Given the description of an element on the screen output the (x, y) to click on. 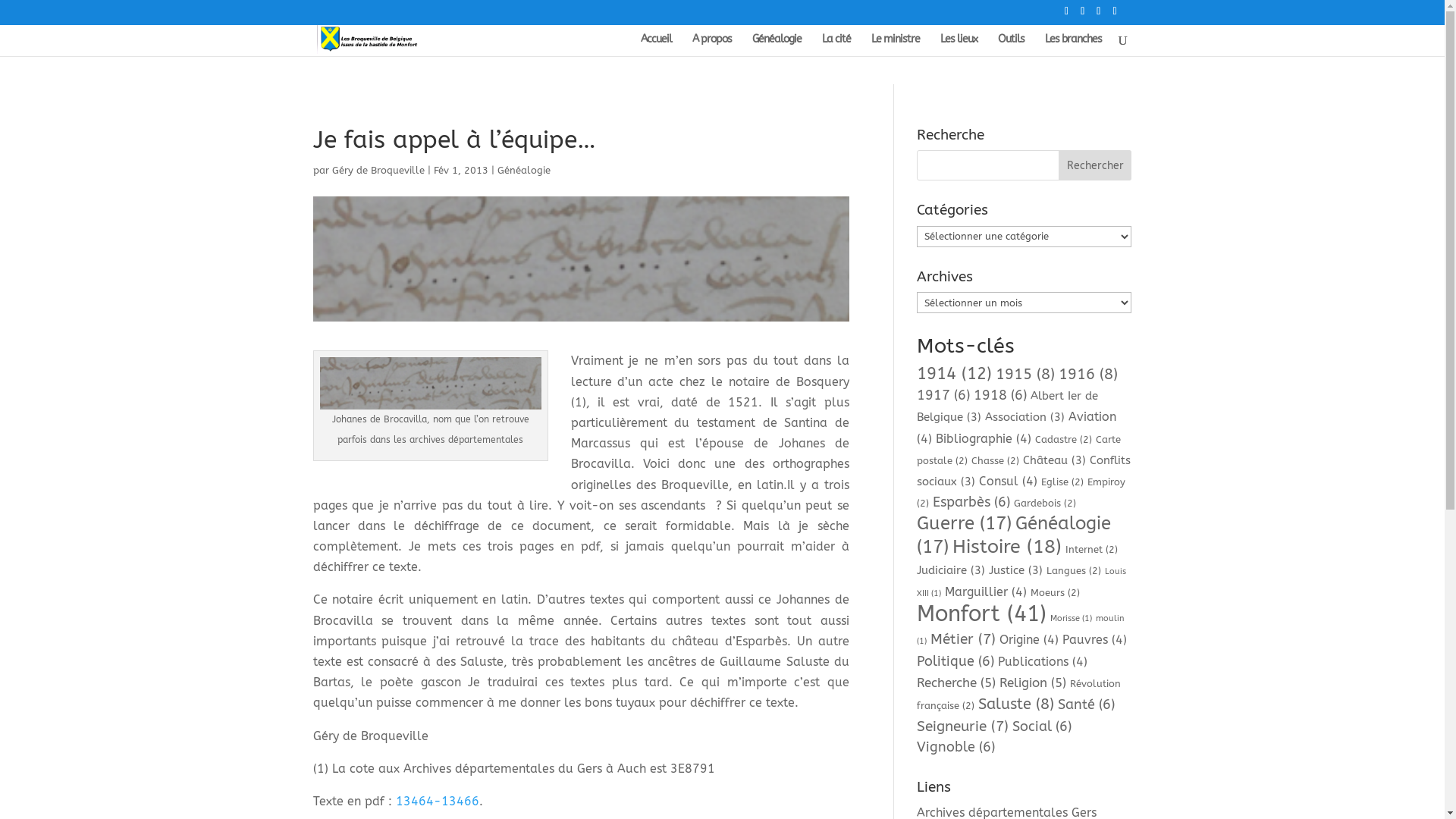
Aviation (4) Element type: text (1016, 427)
Consul (4) Element type: text (1008, 480)
Morisse (1) Element type: text (1071, 618)
1915 (8) Element type: text (1024, 373)
Langues (2) Element type: text (1073, 570)
1916 (8) Element type: text (1087, 373)
Guerre (17) Element type: text (963, 522)
Vignoble (6) Element type: text (955, 746)
Judiciaire (3) Element type: text (950, 570)
Accueil Element type: text (655, 45)
Louis XIII (1) Element type: text (1021, 582)
Politique (6) Element type: text (955, 660)
Religion (5) Element type: text (1032, 682)
A propos Element type: text (711, 45)
Association (3) Element type: text (1024, 416)
Histoire (18) Element type: text (1006, 546)
Conflits sociaux (3) Element type: text (1023, 470)
Empiroy (2) Element type: text (1020, 492)
Marguillier (4) Element type: text (985, 591)
Le ministre Element type: text (894, 45)
Seigneurie (7) Element type: text (962, 725)
Origine (4) Element type: text (1028, 639)
Bibliographie (4) Element type: text (983, 438)
Albert Ier de Belgique (3) Element type: text (1007, 406)
Chasse (2) Element type: text (995, 460)
Rechercher Element type: text (1095, 165)
1918 (6) Element type: text (999, 394)
Les branches Element type: text (1072, 45)
Monfort (41) Element type: text (981, 613)
1917 (6) Element type: text (942, 394)
1914 (12) Element type: text (953, 373)
Pauvres (4) Element type: text (1094, 639)
Moeurs (2) Element type: text (1054, 592)
Justice (3) Element type: text (1015, 570)
moulin (1) Element type: text (1020, 629)
Recherche (5) Element type: text (955, 682)
Saluste (8) Element type: text (1016, 703)
Cadastre (2) Element type: text (1063, 439)
13464-13466 Element type: text (437, 800)
Gardebois (2) Element type: text (1044, 502)
Publications (4) Element type: text (1042, 661)
Social (6) Element type: text (1041, 726)
Outils Element type: text (1010, 45)
Internet (2) Element type: text (1091, 548)
Les lieux Element type: text (958, 45)
Eglise (2) Element type: text (1062, 481)
Carte postale (2) Element type: text (1018, 449)
